Given the description of an element on the screen output the (x, y) to click on. 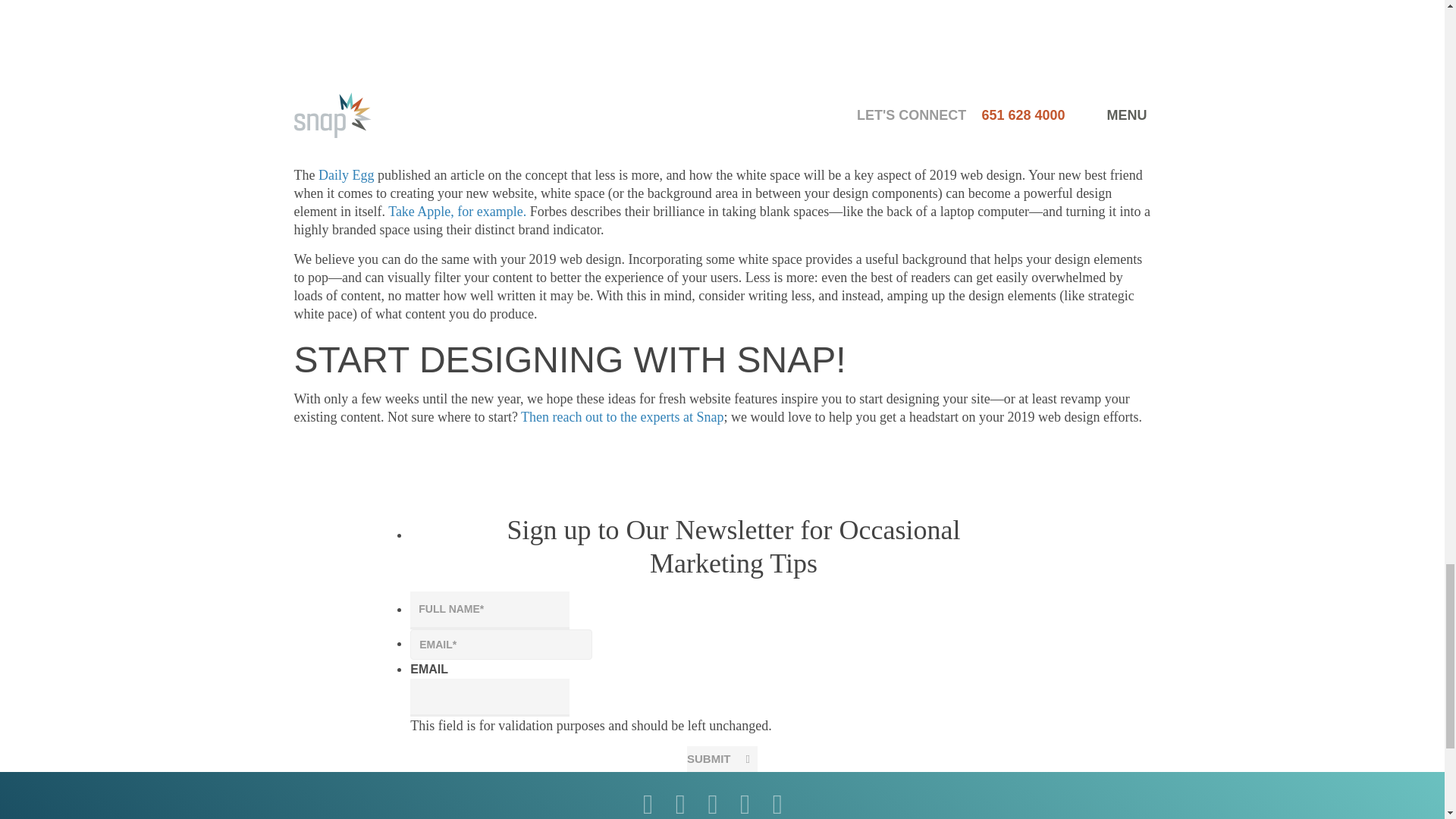
SUBMIT (722, 759)
Take Apple, for example. (458, 211)
Then reach out to the experts at Snap (622, 417)
Daily Egg (344, 174)
